Given the description of an element on the screen output the (x, y) to click on. 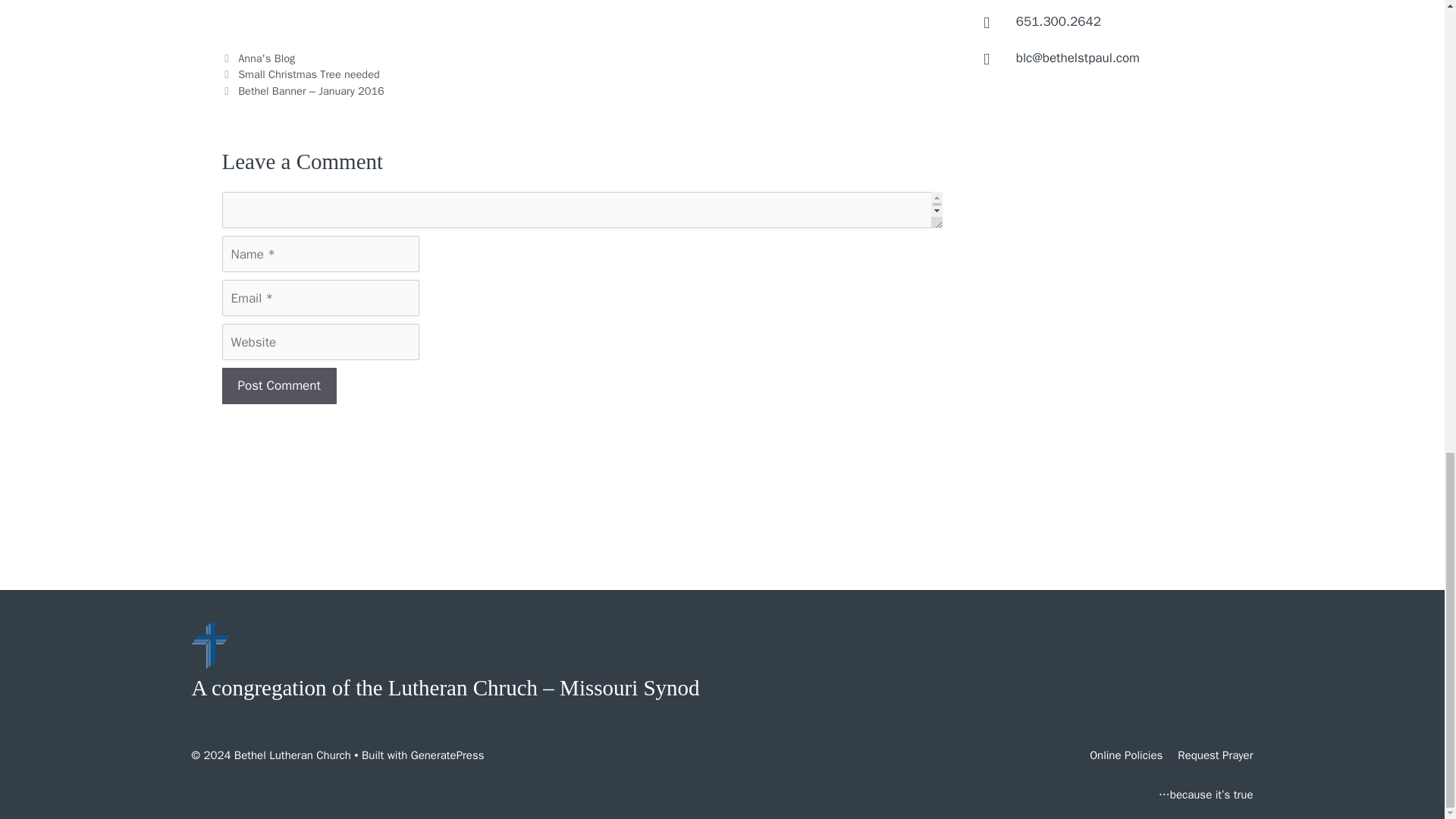
Post Comment (278, 385)
GeneratePress (447, 755)
651.300.2642 (1058, 21)
Online Policies (1125, 755)
Request Prayer (1214, 755)
Small Christmas Tree needed (309, 74)
Post Comment (278, 385)
Anna's Blog (266, 58)
